Given the description of an element on the screen output the (x, y) to click on. 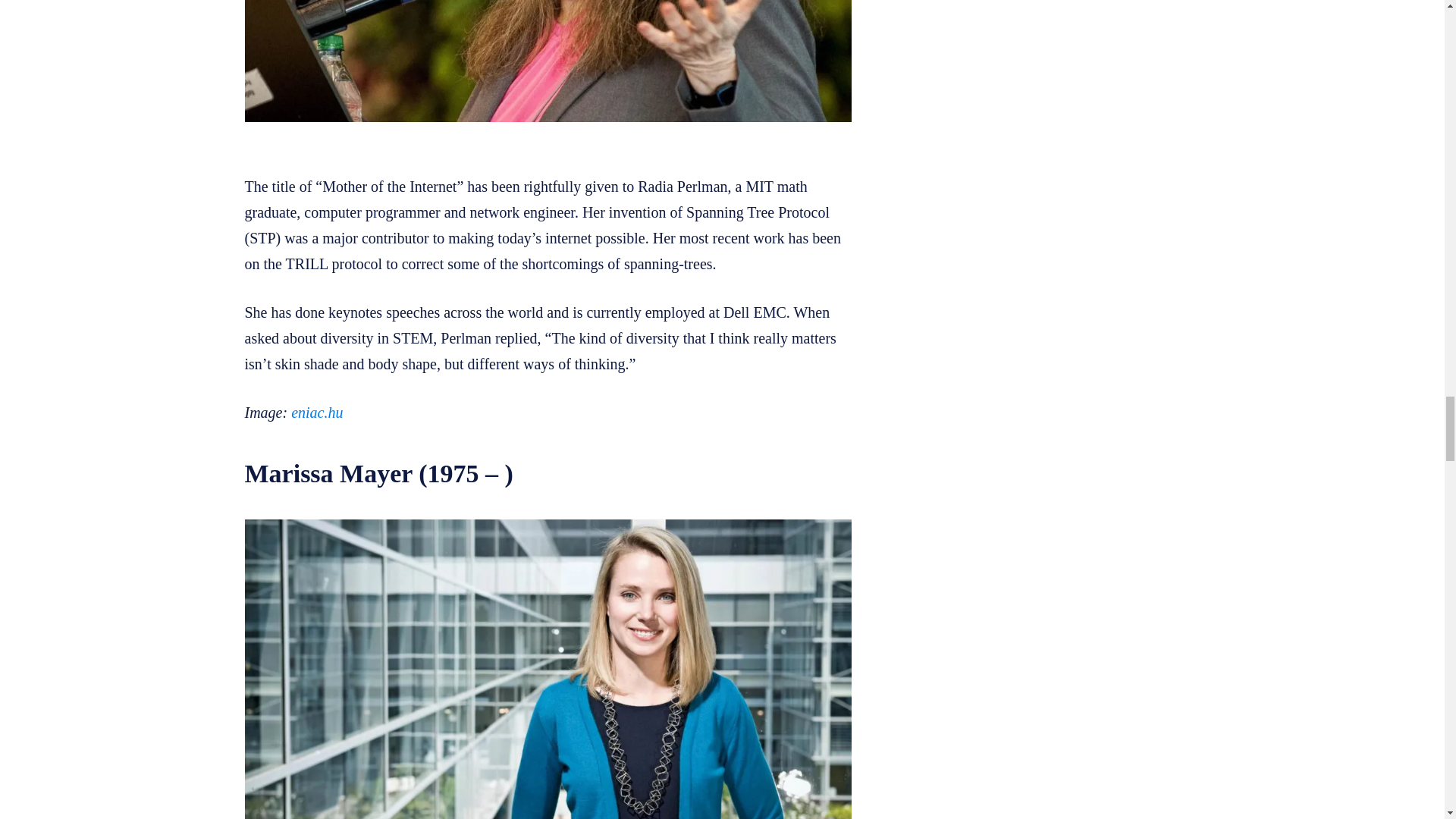
eniac.hu (316, 412)
